Given the description of an element on the screen output the (x, y) to click on. 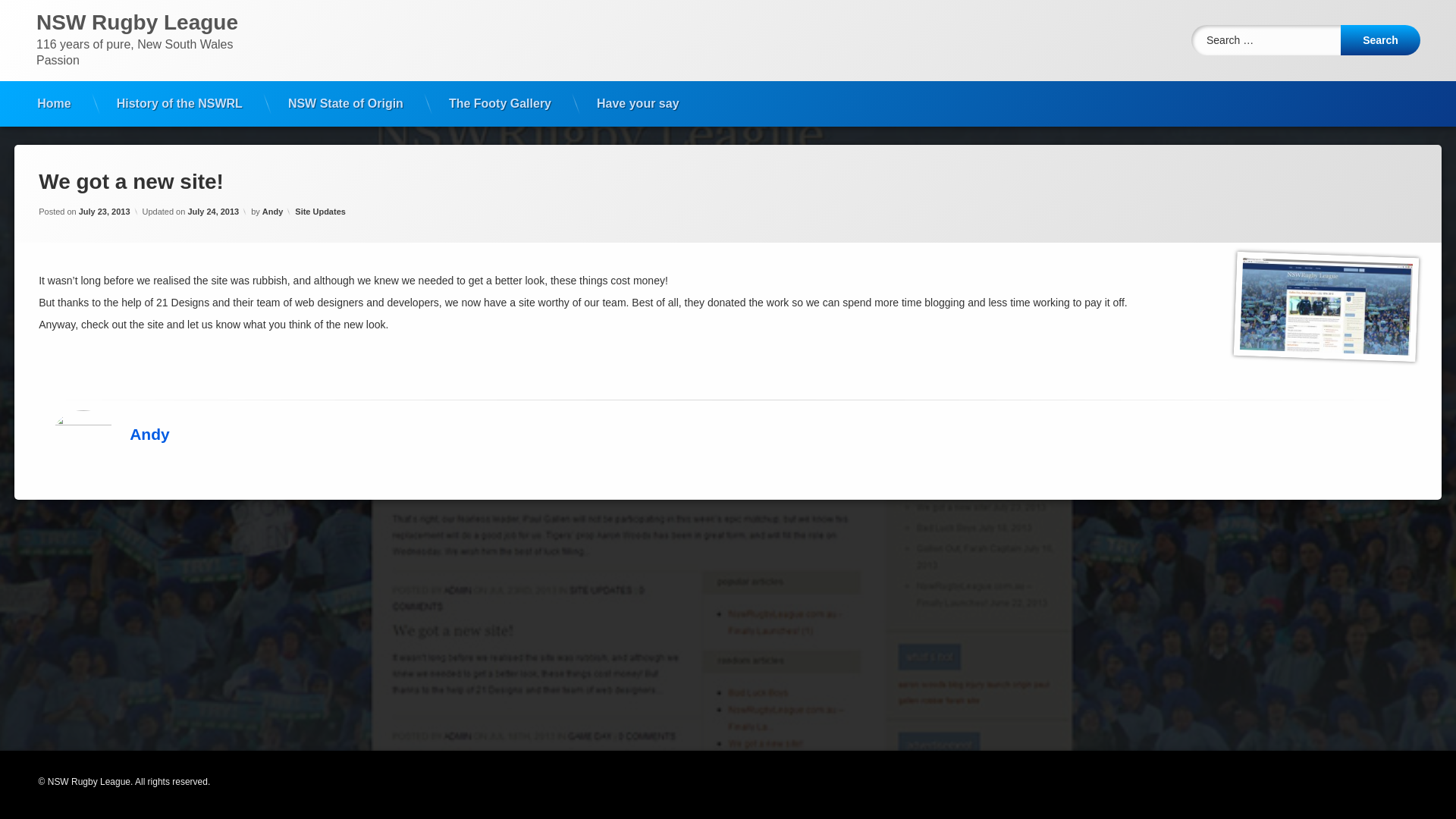
NSW Rugby League
116 years of pure, New South Wales Passion Element type: text (149, 40)
Site Updates Element type: text (319, 211)
Andy Element type: text (272, 211)
Search Element type: text (1380, 40)
NSW State of Origin Element type: text (345, 103)
July 24, 2013 Element type: text (212, 211)
Andy Element type: text (149, 433)
History of the NSWRL Element type: text (179, 103)
The Footy Gallery Element type: text (499, 103)
July 23, 2013 Element type: text (104, 211)
Have your say Element type: text (637, 103)
Home Element type: text (53, 103)
